Given the description of an element on the screen output the (x, y) to click on. 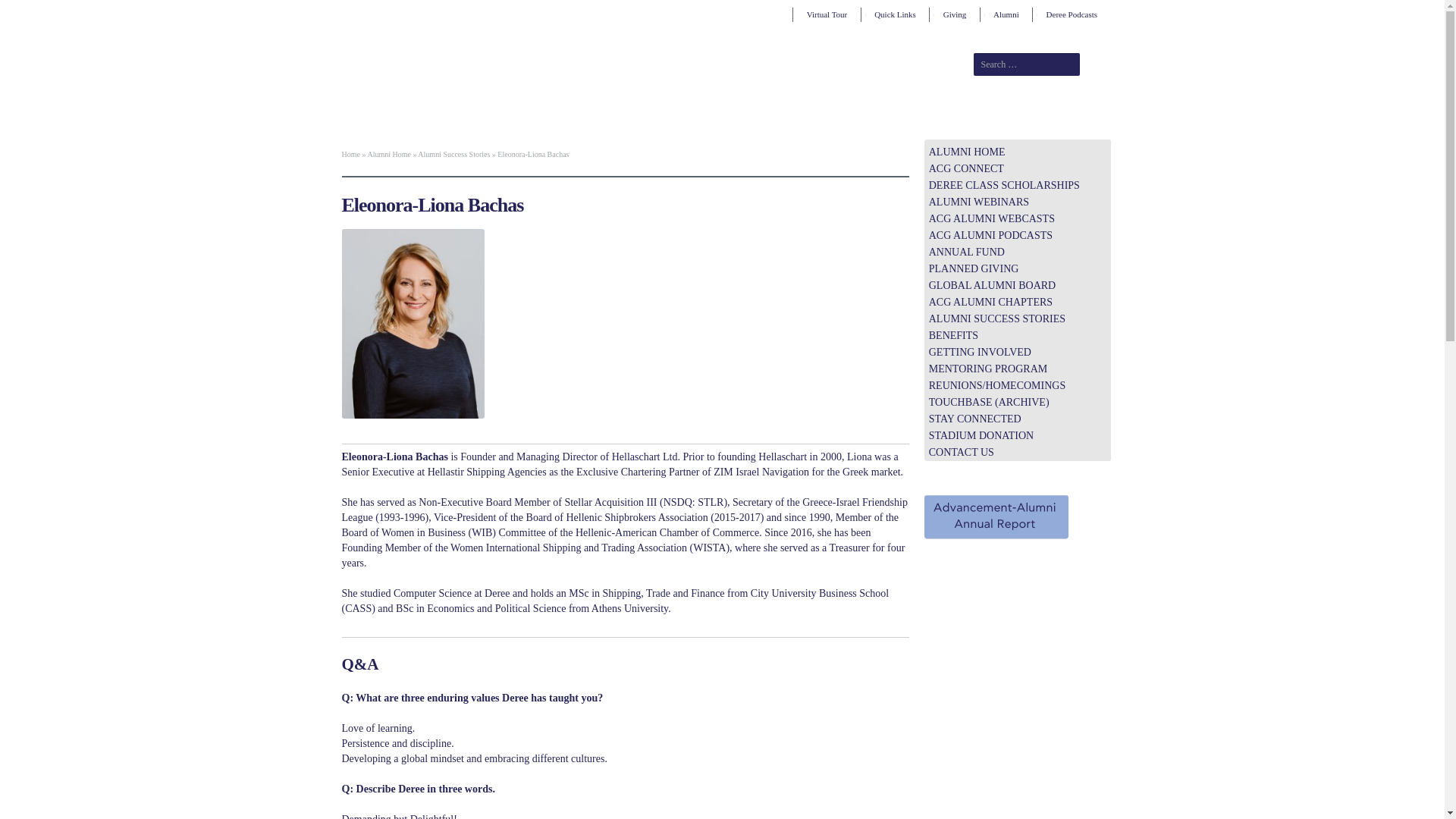
Giving (954, 14)
ADMISSIONS (580, 115)
Search (1098, 64)
Deree Podcasts (1071, 14)
ABOUT ACG (512, 115)
Search (1098, 64)
Quick Links (895, 14)
Go to Alumni Success Stories. (453, 153)
UNDERGRADUATE (664, 115)
Virtual Tour (826, 14)
